Given the description of an element on the screen output the (x, y) to click on. 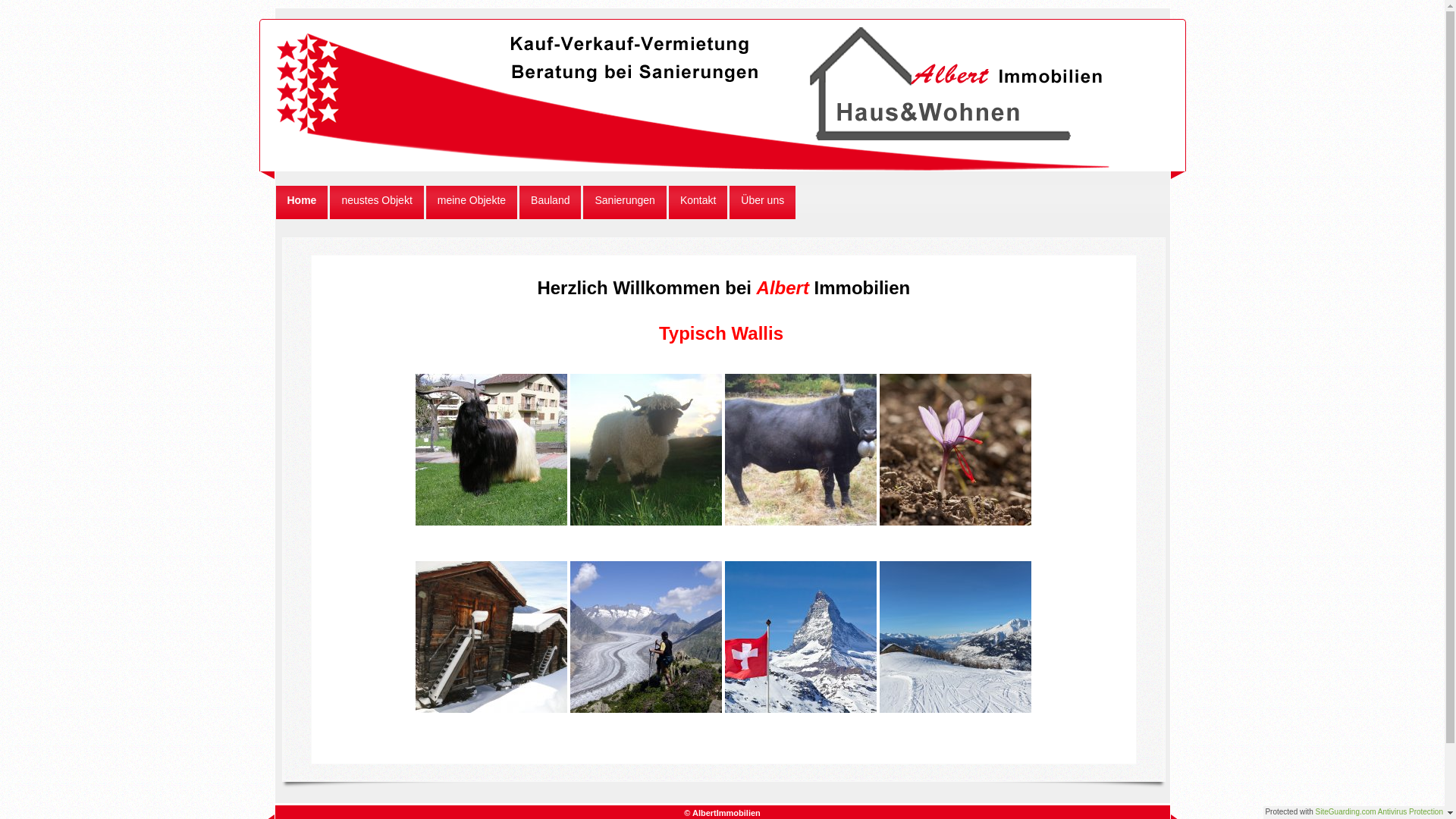
Bauland Element type: text (549, 202)
Home Element type: text (301, 202)
meine Objekte Element type: text (471, 202)
Kontakt Element type: text (698, 202)
SiteGuarding.com Antivirus Protection Element type: text (1379, 811)
neustes Objekt Element type: text (376, 202)
Sanierungen Element type: text (624, 202)
